Given the description of an element on the screen output the (x, y) to click on. 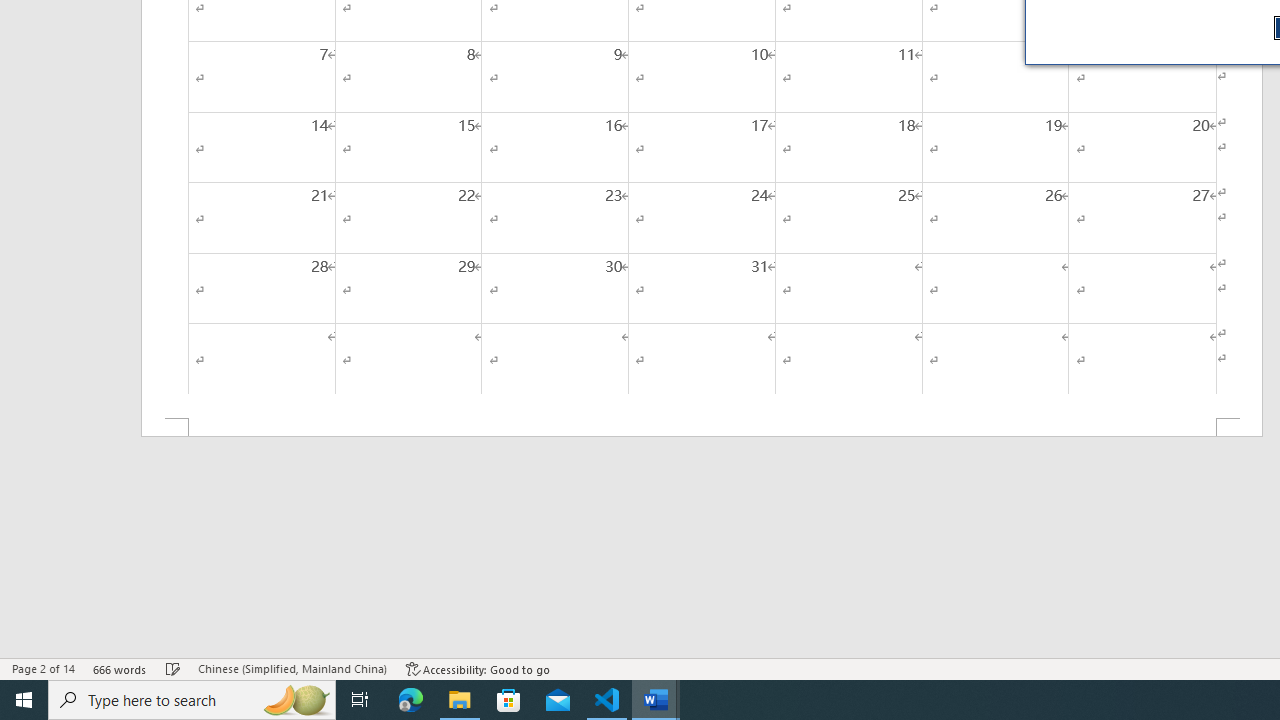
Page Number Page 2 of 14 (43, 668)
